Given the description of an element on the screen output the (x, y) to click on. 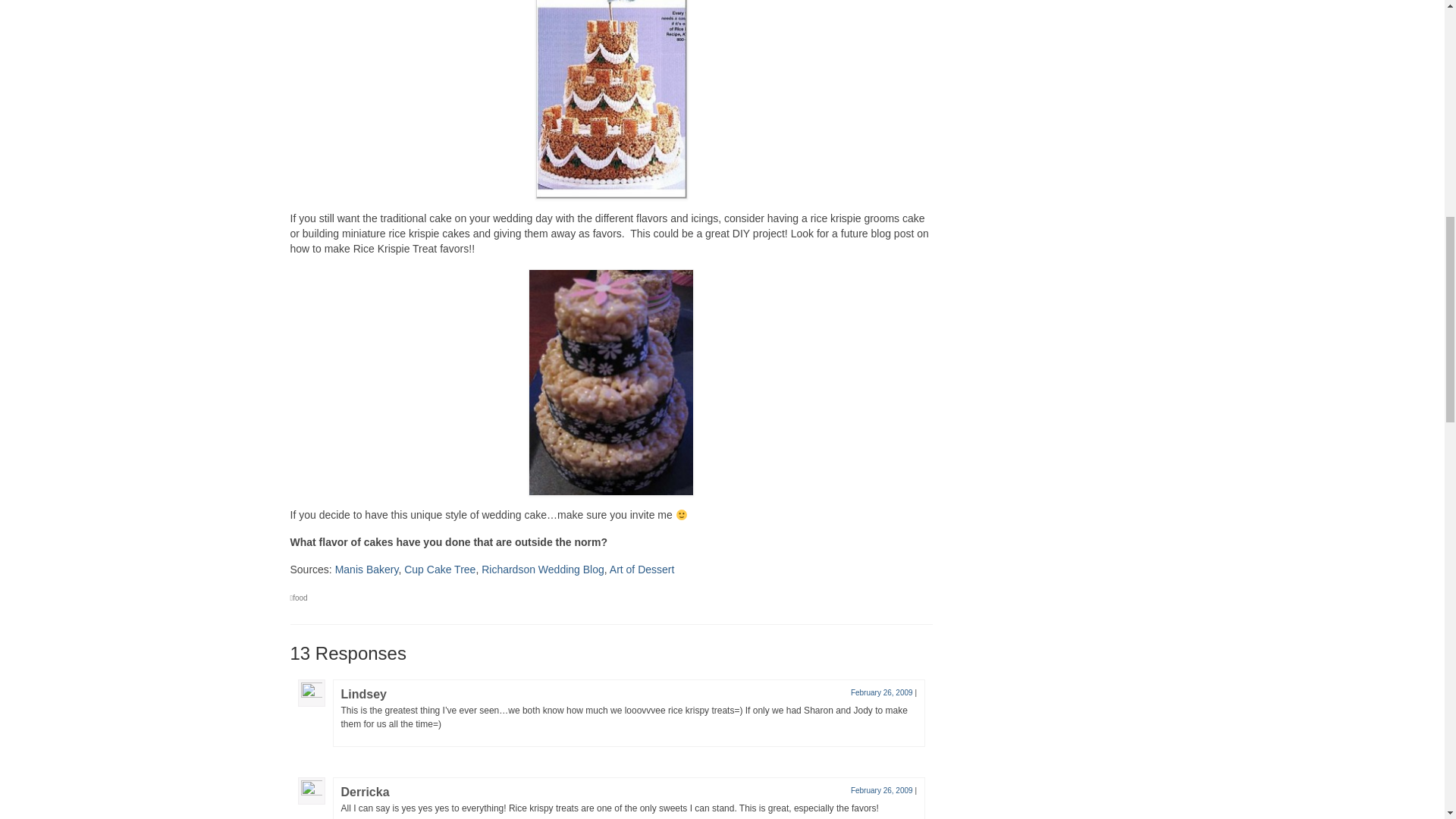
Richardson Wedding Blog (542, 569)
February 26, 2009 (881, 692)
Cup Cake Tree (440, 569)
Manis Bakery (366, 569)
Art of Dessert (642, 569)
food (299, 597)
February 26, 2009 (881, 790)
